Given the description of an element on the screen output the (x, y) to click on. 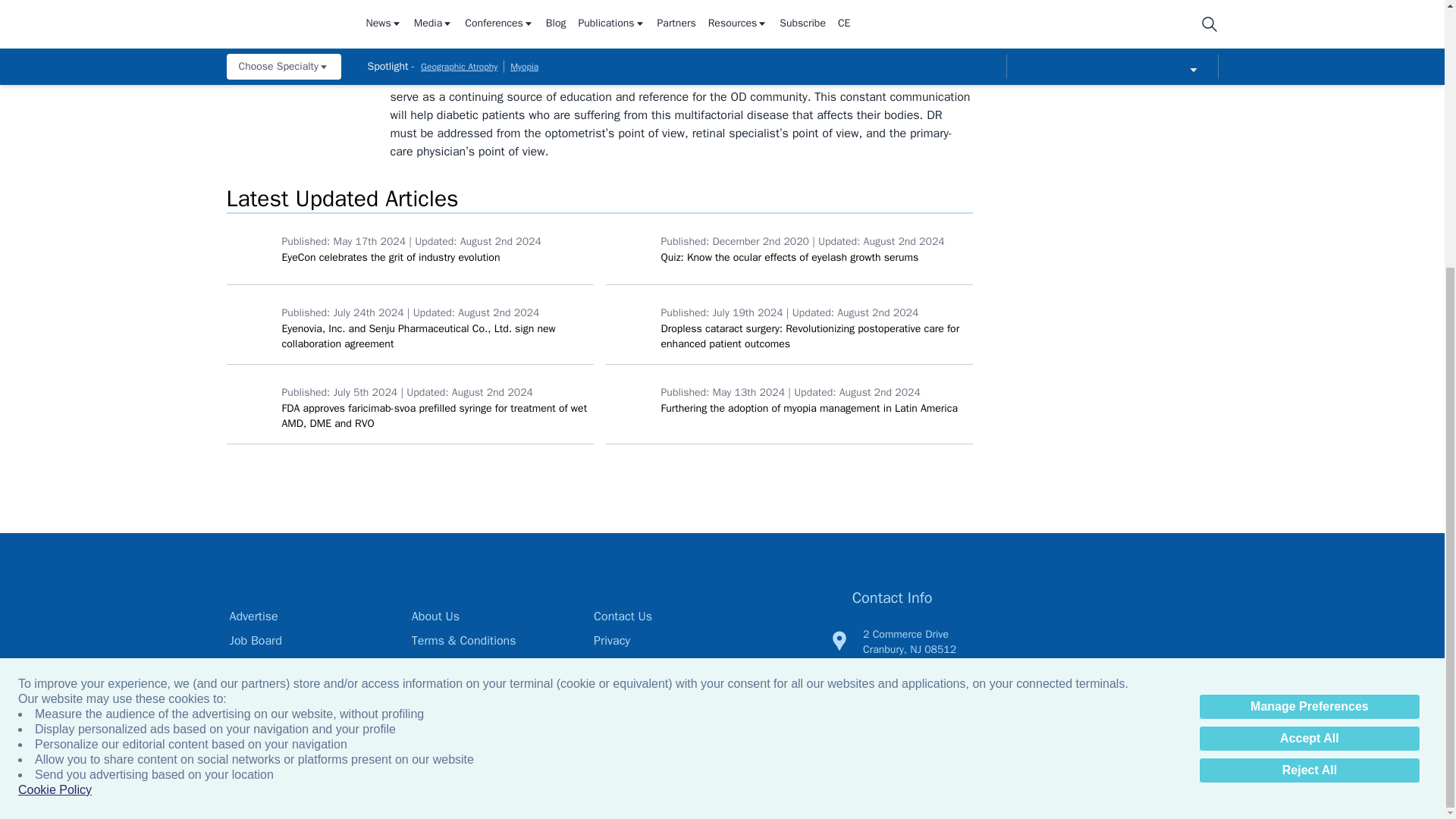
EyeCon celebrates the grit of industry evolution (250, 248)
Manage Preferences (1309, 318)
Cookie Policy (54, 401)
Accept All (1309, 350)
Reject All (1309, 381)
Quiz: Know the ocular effects of eyelash growth serums (629, 248)
